Given the description of an element on the screen output the (x, y) to click on. 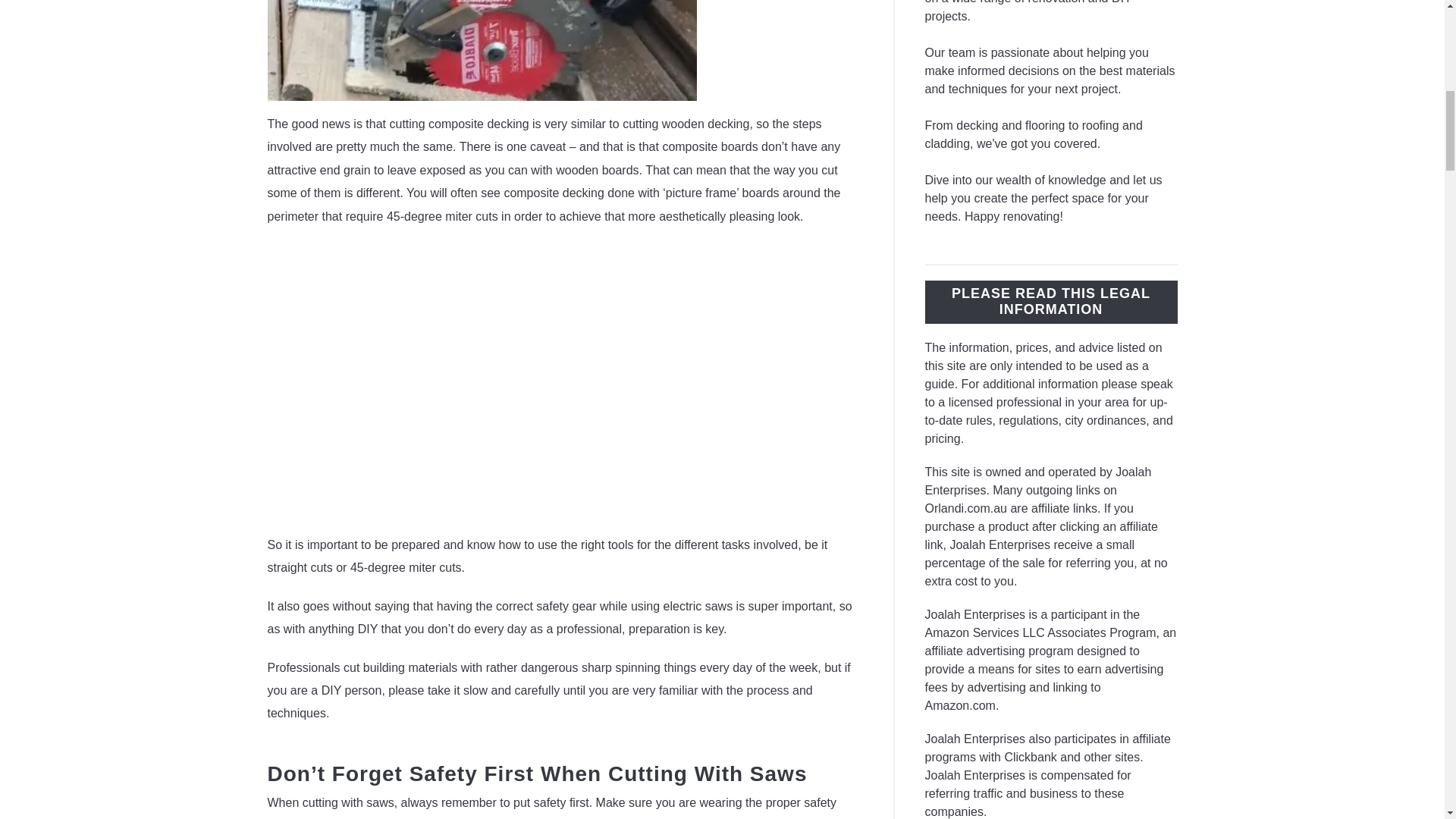
How to picture frame a composite deck (509, 379)
